Given the description of an element on the screen output the (x, y) to click on. 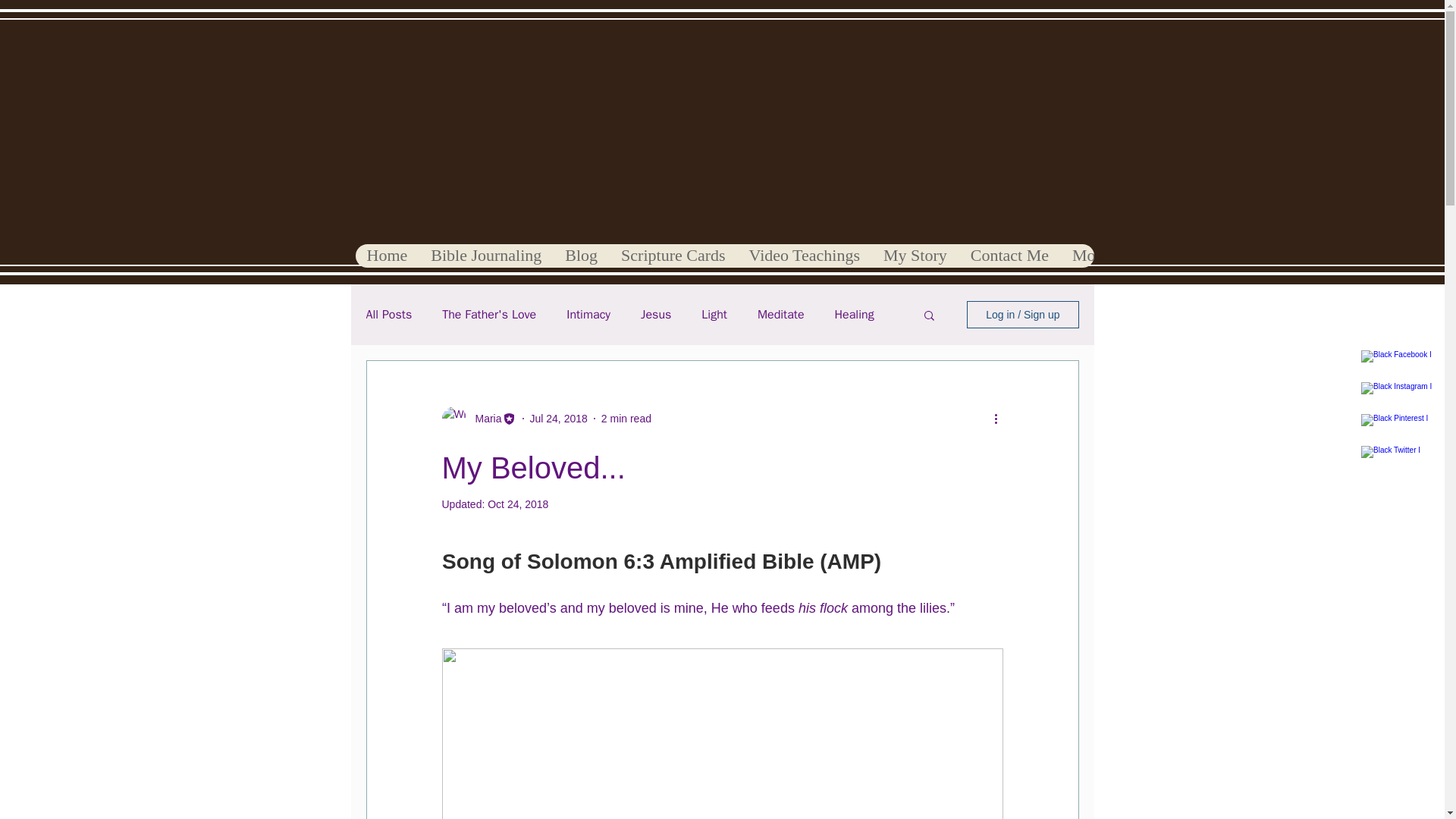
All Posts (388, 314)
My Story (914, 255)
Scripture Cards (672, 255)
The Father's Love (488, 314)
2 min read (625, 418)
Maria (482, 418)
Light (713, 314)
Oct 24, 2018 (517, 503)
Healing (854, 314)
Jul 24, 2018 (558, 418)
Jesus (655, 314)
Contact Me (1008, 255)
Bible Journaling (486, 255)
Home (387, 255)
Blog (580, 255)
